Given the description of an element on the screen output the (x, y) to click on. 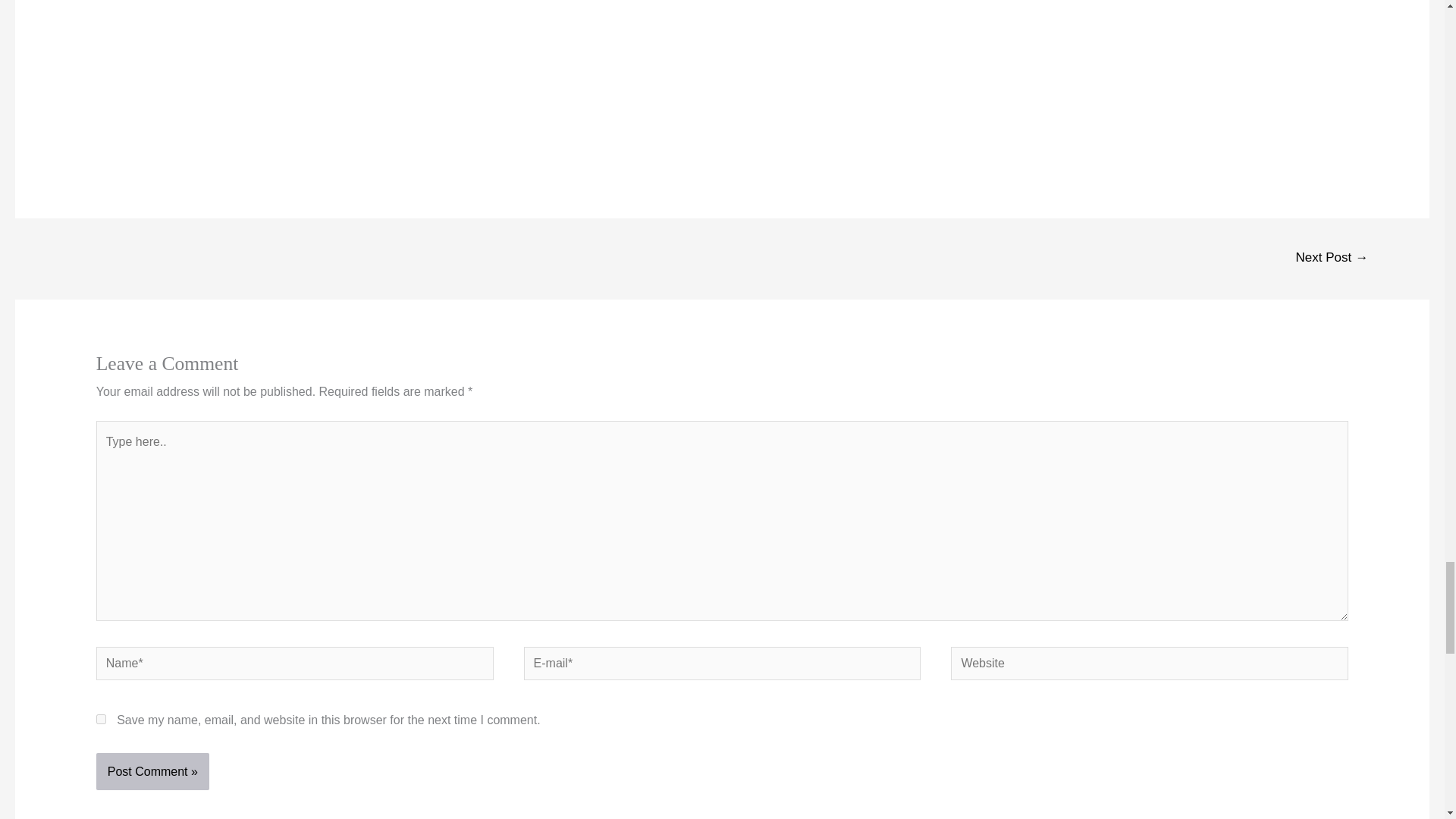
yes (101, 718)
